Given the description of an element on the screen output the (x, y) to click on. 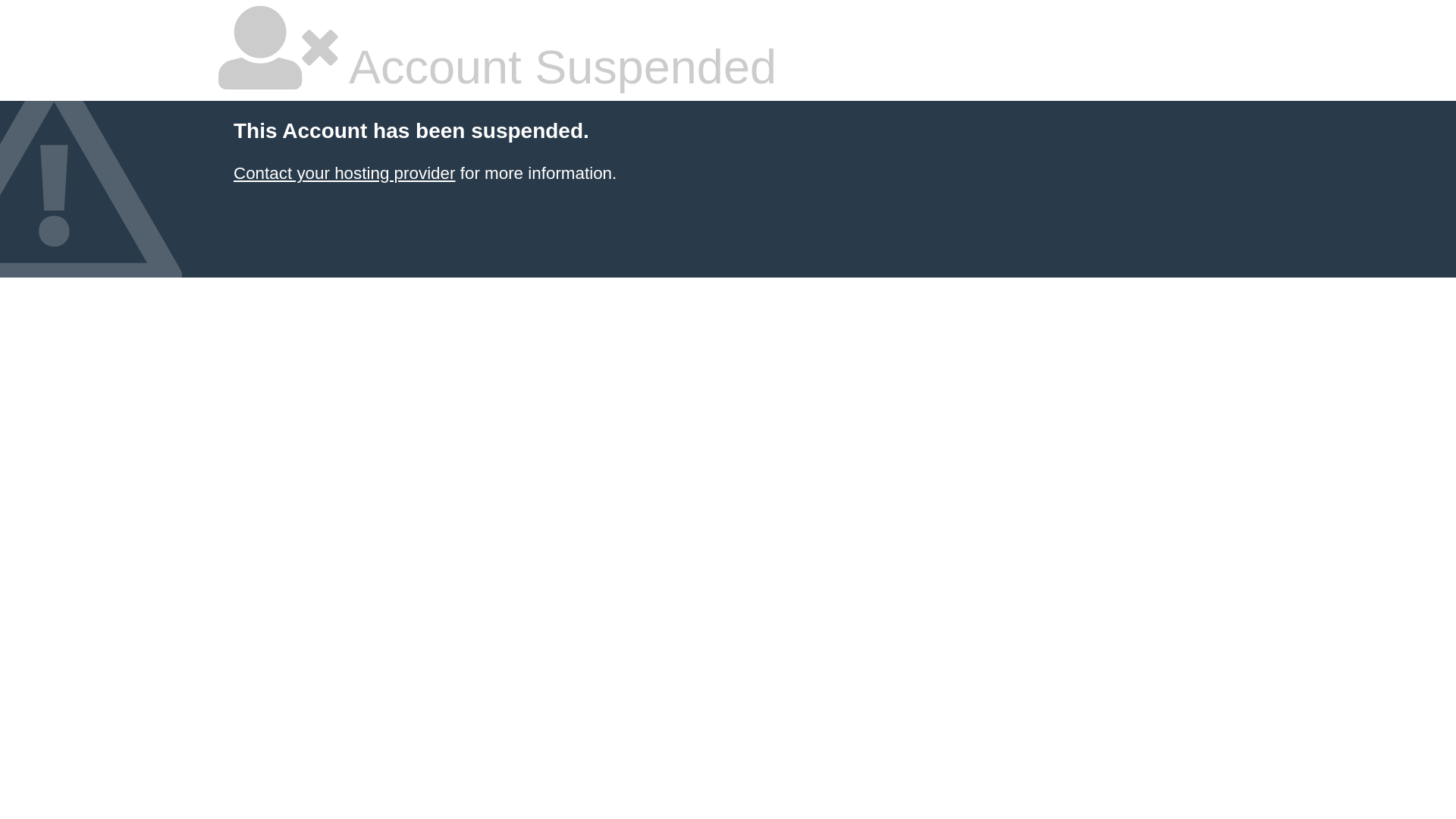
Contact your hosting provider Element type: text (344, 172)
